Given the description of an element on the screen output the (x, y) to click on. 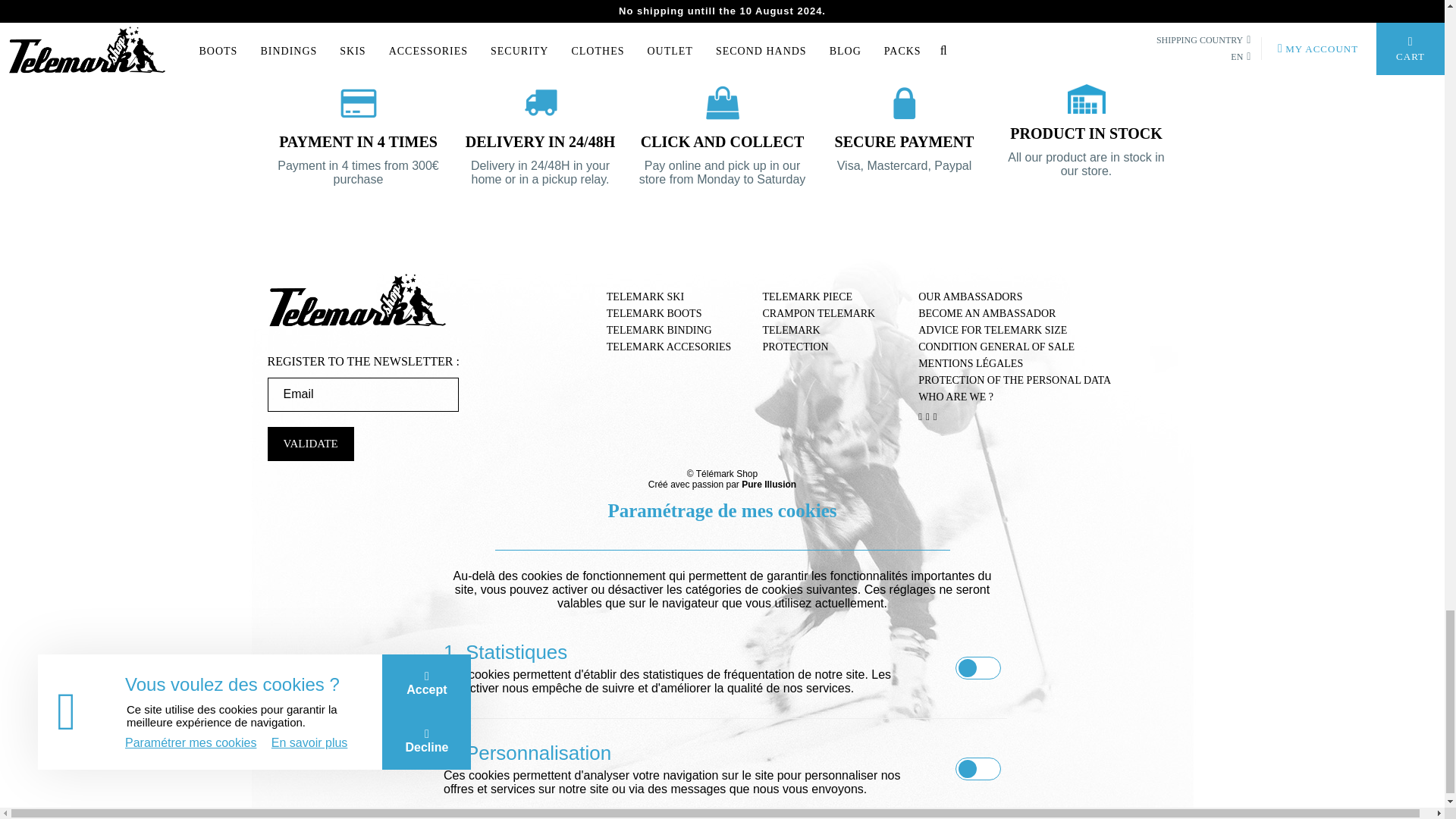
Validate (309, 443)
